Given the description of an element on the screen output the (x, y) to click on. 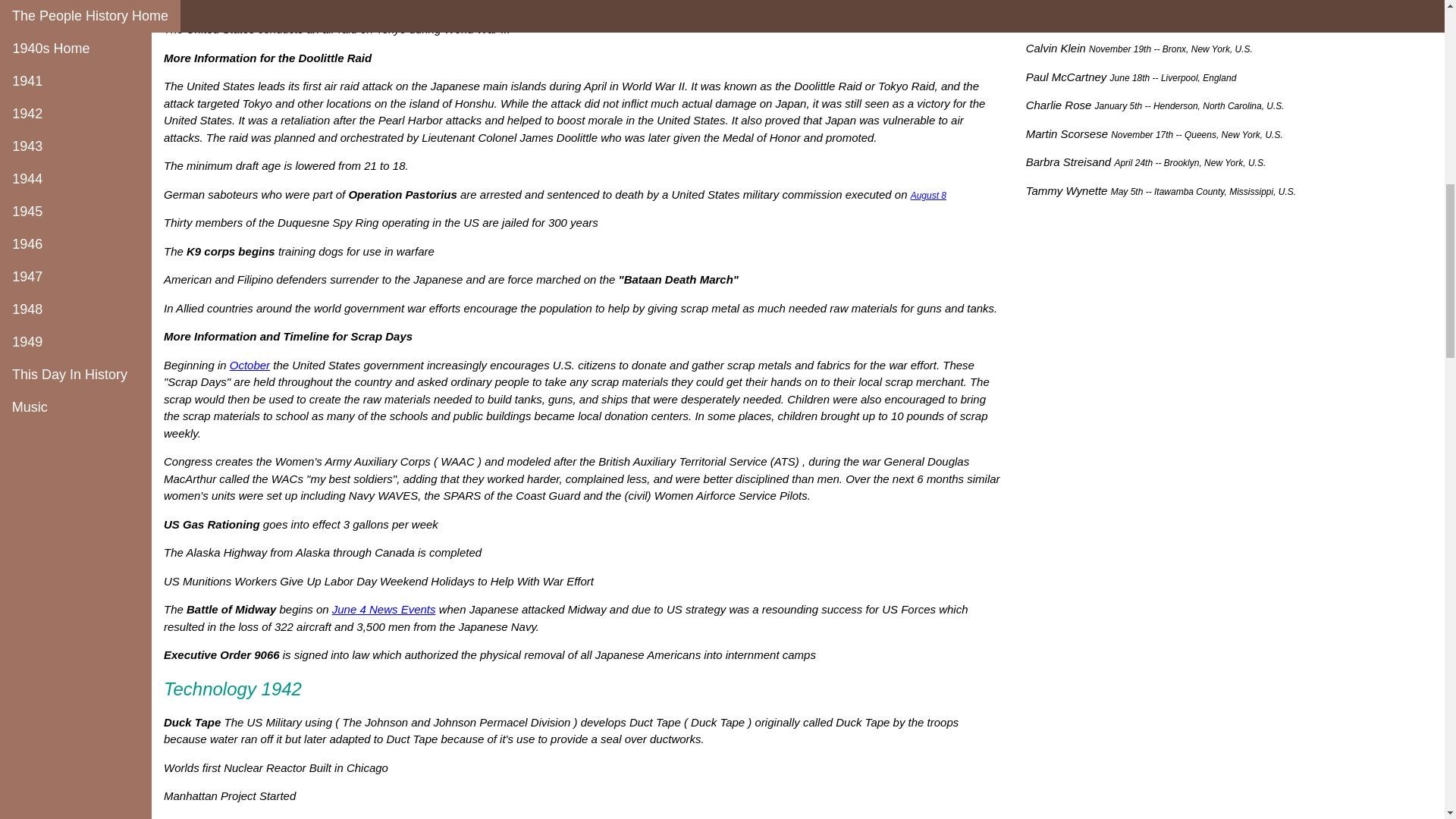
June 4 News Events (383, 608)
August 8 (928, 195)
October (249, 364)
